Given the description of an element on the screen output the (x, y) to click on. 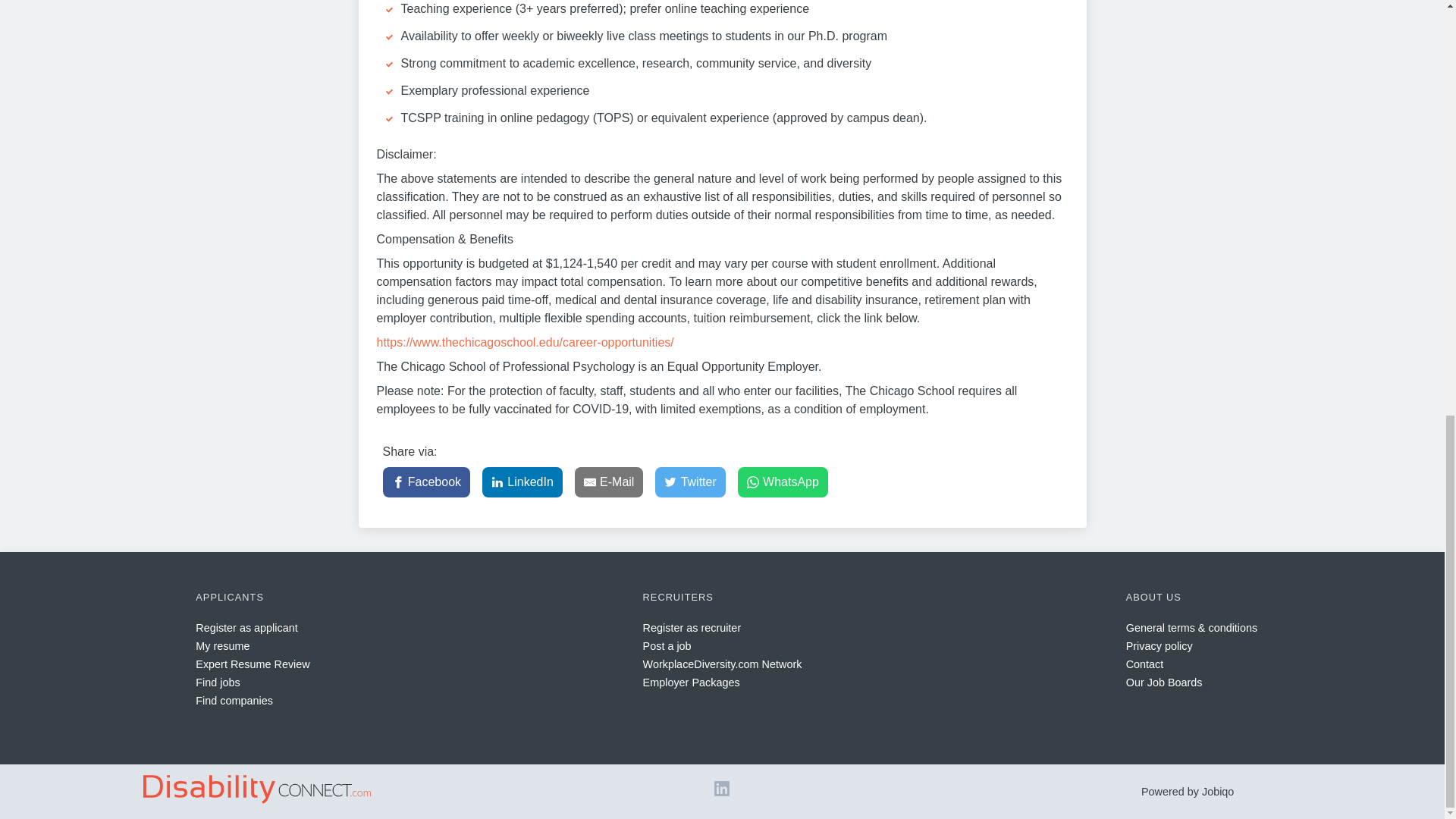
Facebook (425, 481)
Twitter (690, 481)
Contact (1144, 664)
Post a job (667, 645)
E-Mail (609, 481)
Find jobs (217, 682)
Our Job Boards (1163, 682)
Find companies (234, 700)
WhatsApp (783, 481)
Register as applicant (246, 627)
Powered by Jobiqo (1187, 791)
Expert Resume Review (251, 664)
WorkplaceDiversity.com Network (722, 664)
Employer Packages (691, 682)
LinkedIn logo (721, 792)
